Given the description of an element on the screen output the (x, y) to click on. 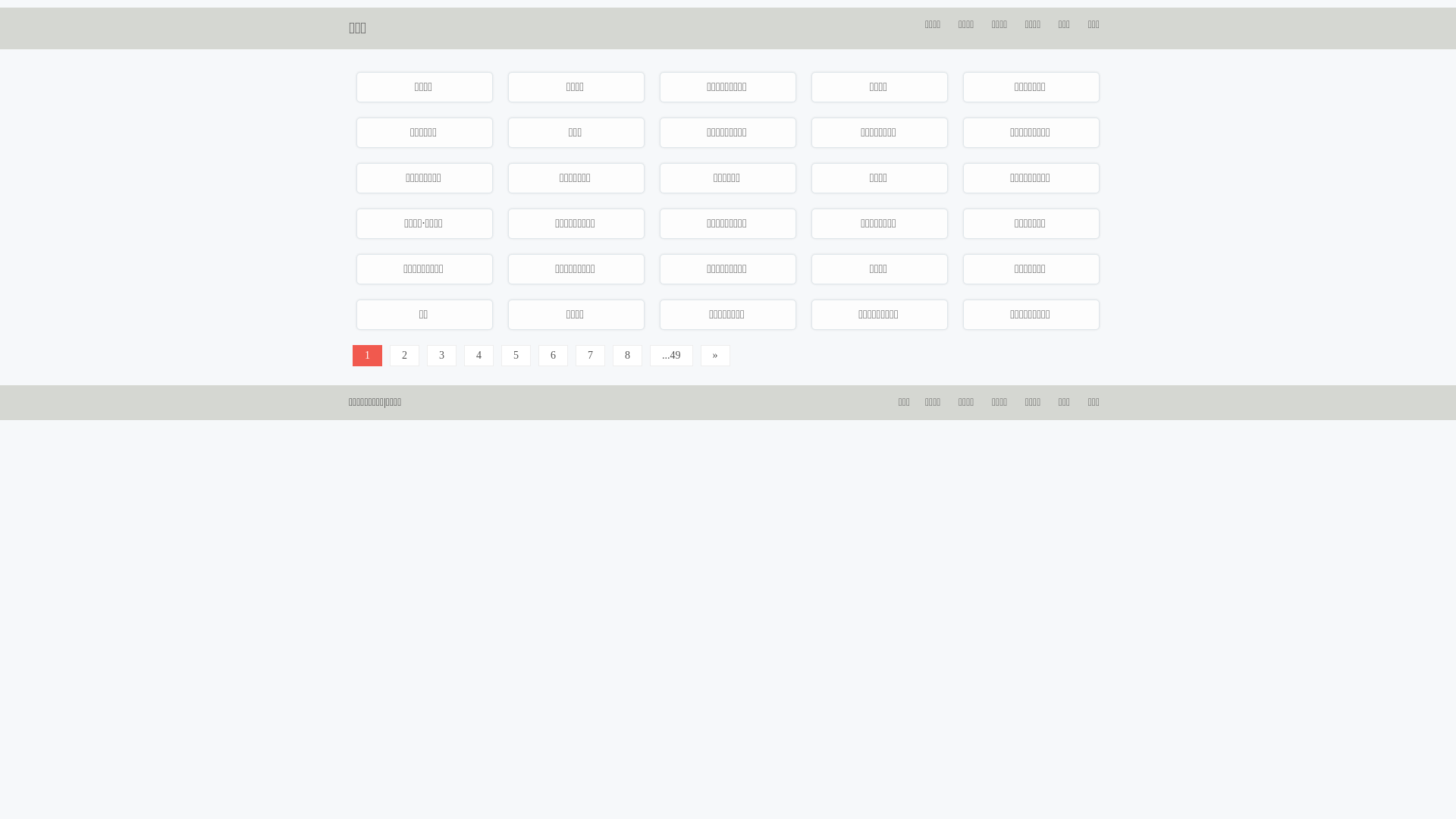
8 Element type: text (627, 355)
...49 Element type: text (671, 355)
7 Element type: text (590, 355)
3 Element type: text (441, 355)
5 Element type: text (515, 355)
6 Element type: text (552, 355)
2 Element type: text (404, 355)
1 Element type: text (367, 355)
4 Element type: text (478, 355)
